Given the description of an element on the screen output the (x, y) to click on. 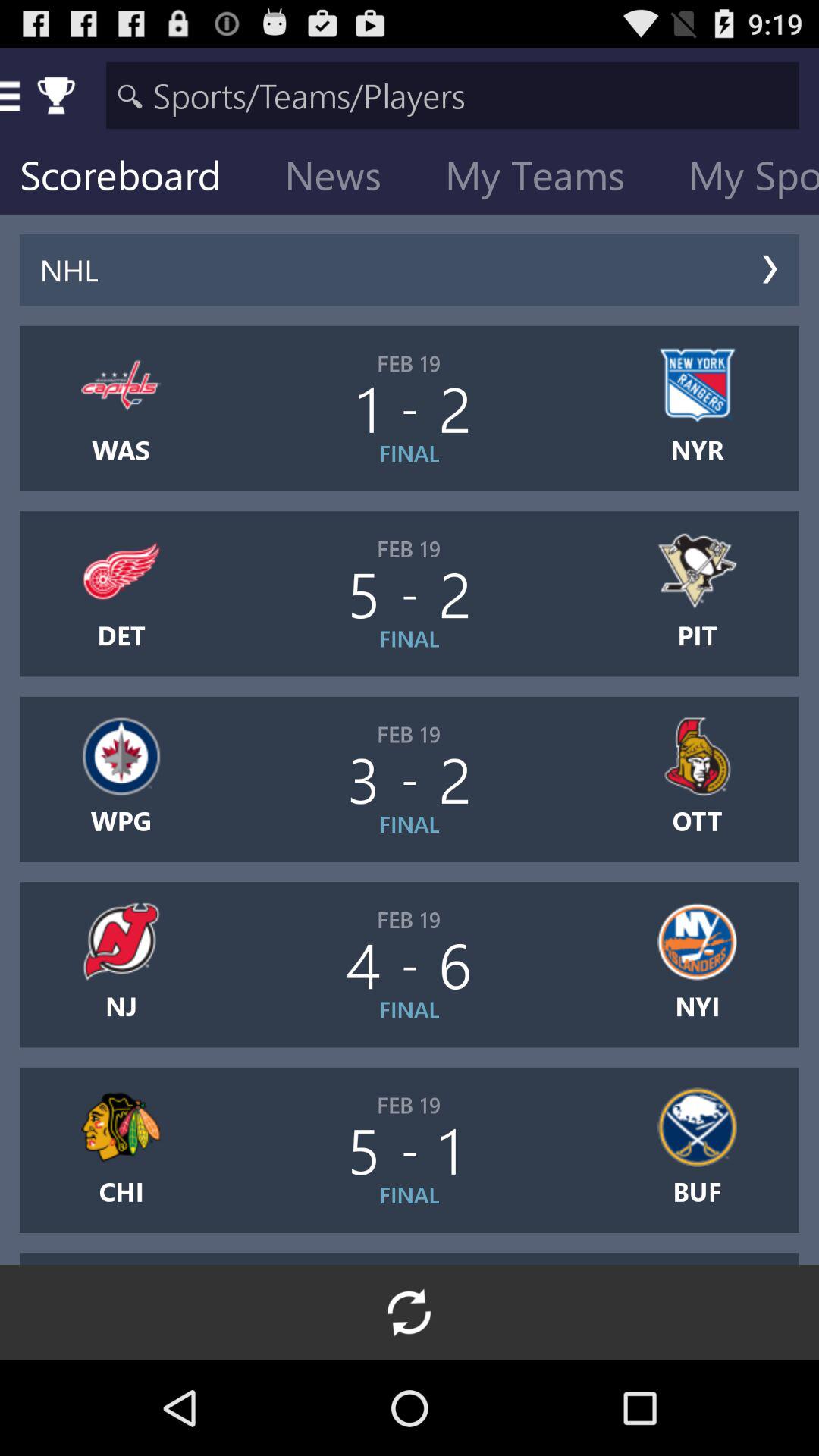
press item to the right of scoreboard item (345, 178)
